Given the description of an element on the screen output the (x, y) to click on. 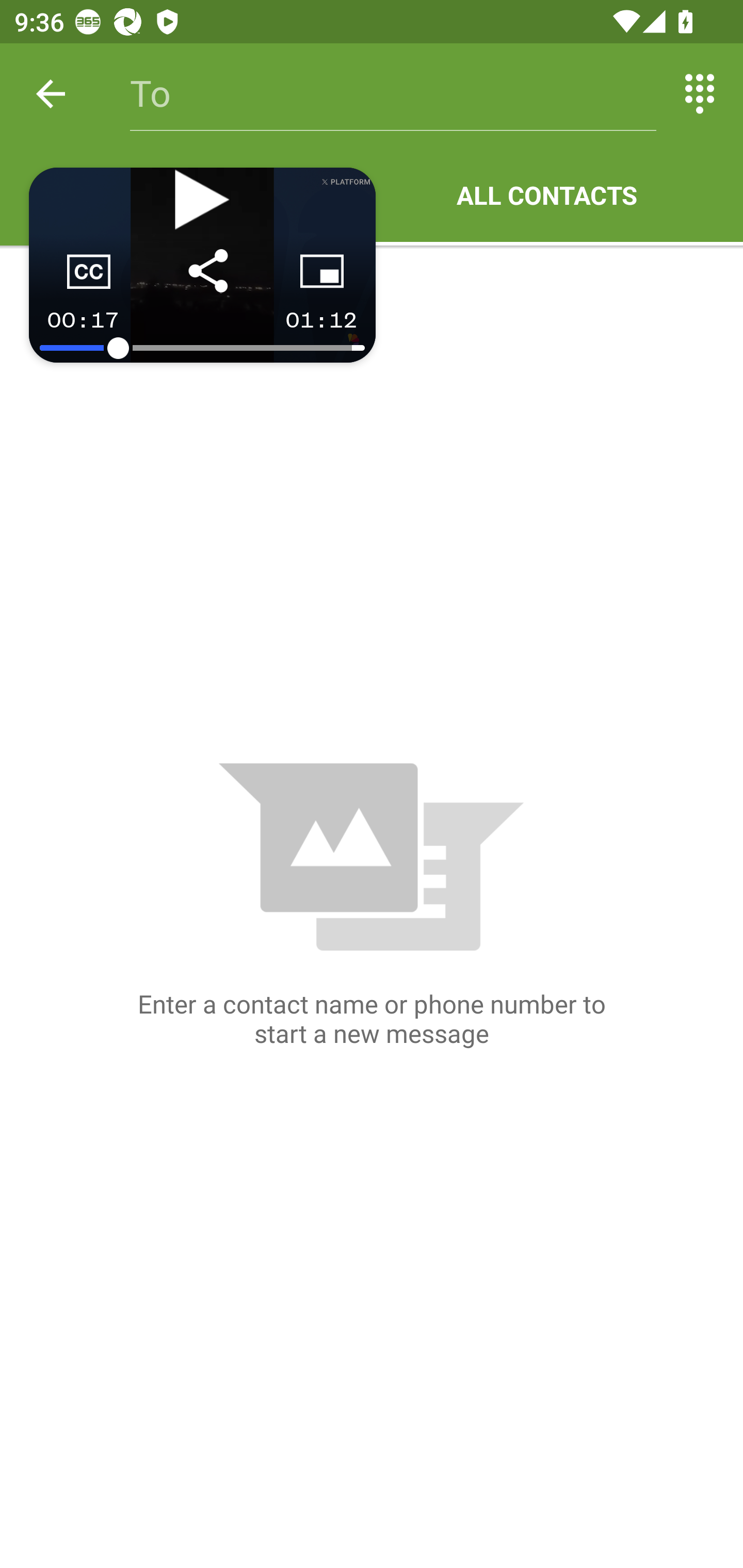
Back (50, 93)
Switch between entering text and numbers (699, 93)
To (393, 93)
ALL CONTACTS (547, 195)
